Given the description of an element on the screen output the (x, y) to click on. 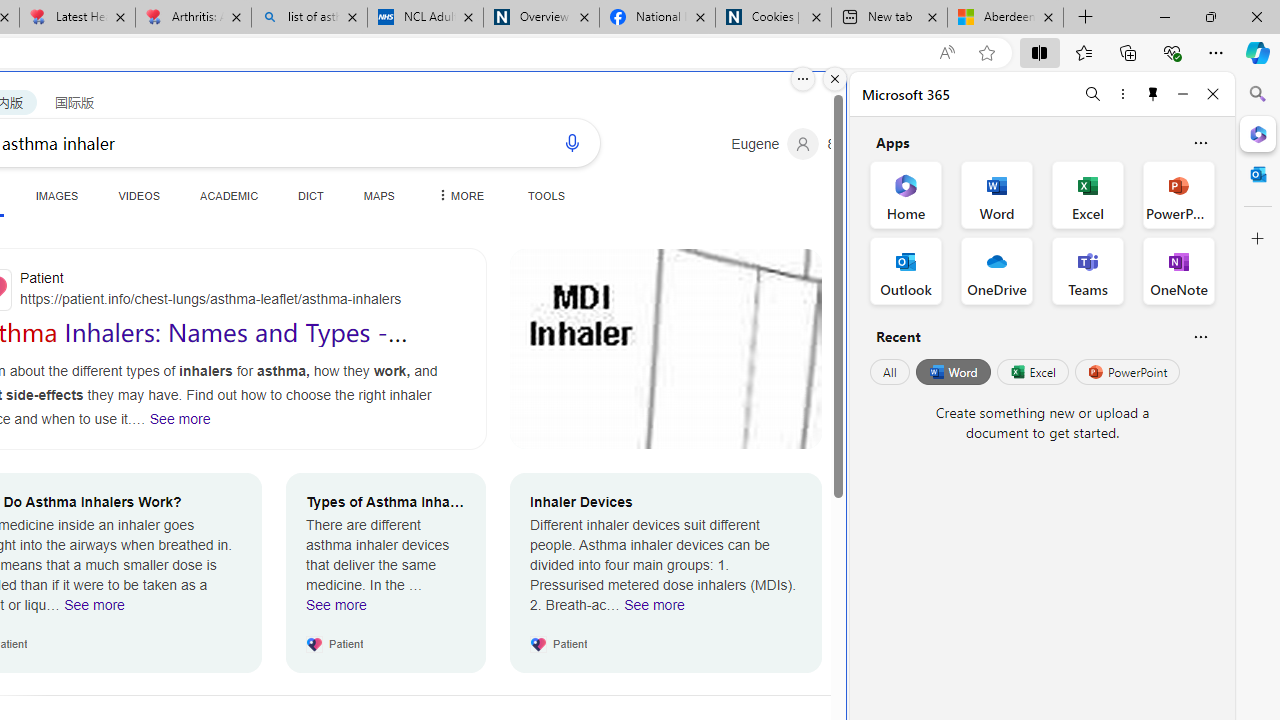
OneNote Office App (1178, 270)
MAPS (378, 195)
Teams Office App (1087, 270)
More options. (803, 79)
OneDrive Office App (996, 270)
Eugene (775, 143)
All (890, 372)
MAPS (378, 195)
Word (952, 372)
PowerPoint (1127, 372)
Outlook Office App (906, 270)
